Given the description of an element on the screen output the (x, y) to click on. 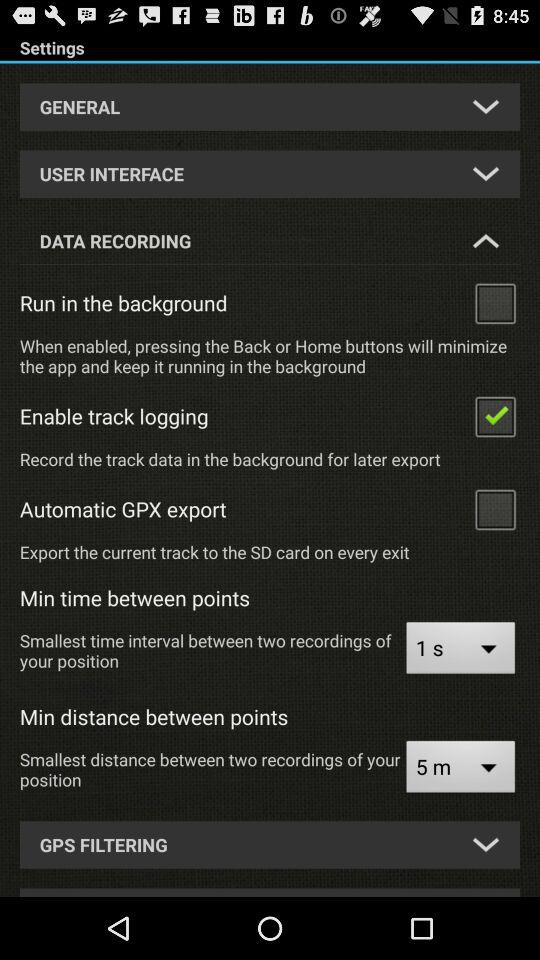
toggle option (495, 415)
